Given the description of an element on the screen output the (x, y) to click on. 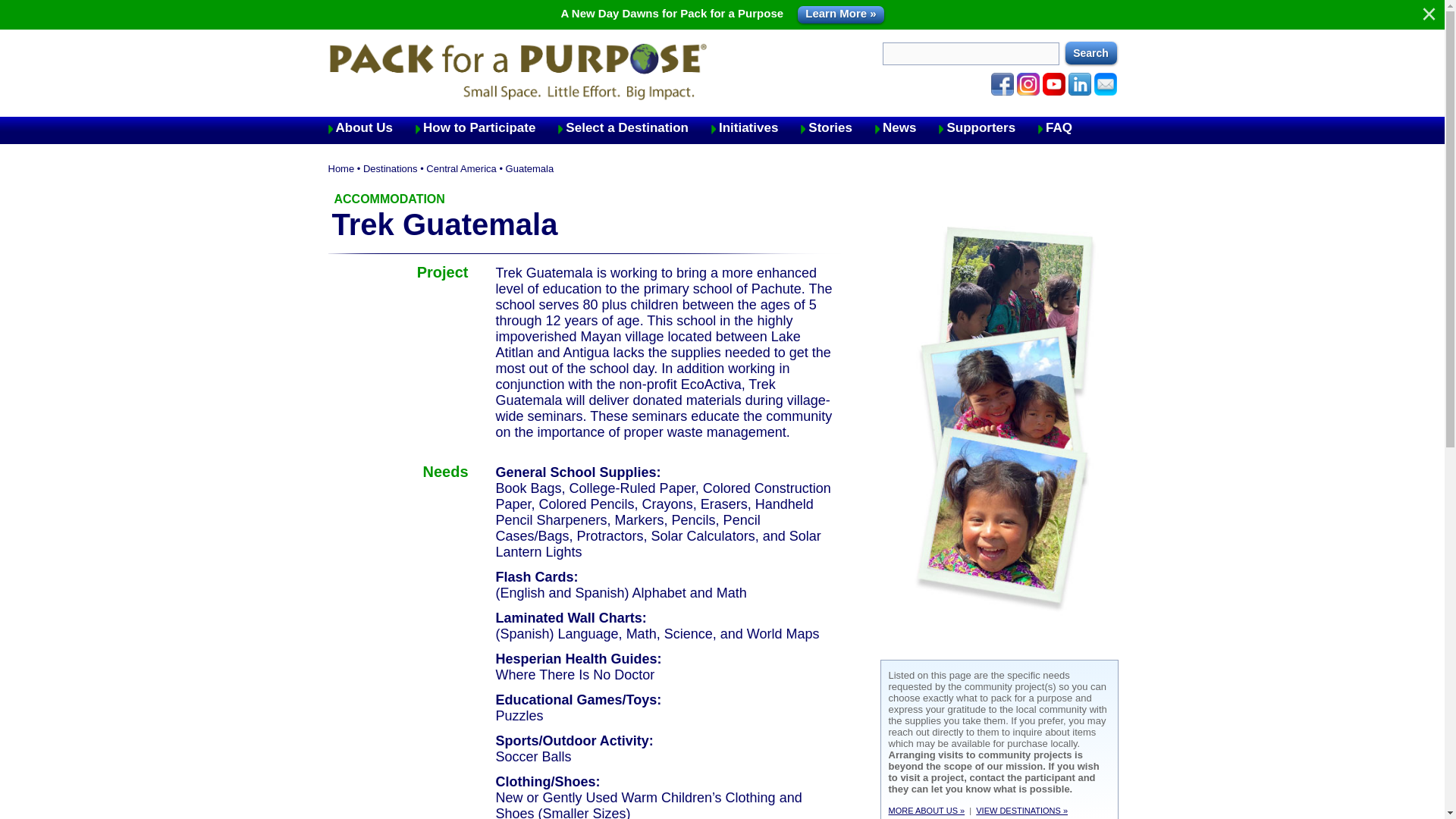
FAQ (1066, 127)
Supporters (988, 127)
Search (1090, 52)
Instagram (1027, 83)
Destinations (389, 168)
LinkedIn (1078, 83)
Mail (1104, 83)
Facebook (1001, 83)
Initiatives (755, 127)
YouTube (1053, 83)
